Given the description of an element on the screen output the (x, y) to click on. 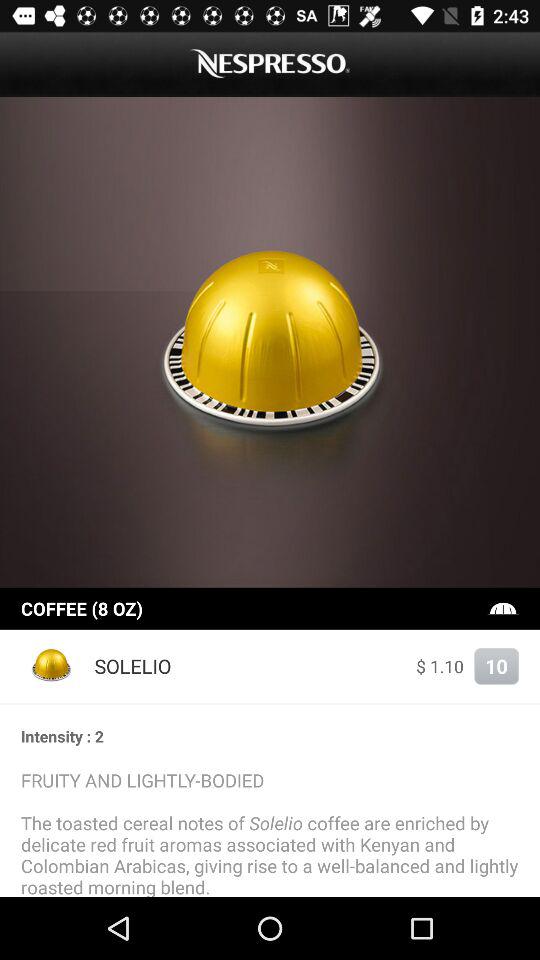
choose item above the intensity : 2 (270, 703)
